Given the description of an element on the screen output the (x, y) to click on. 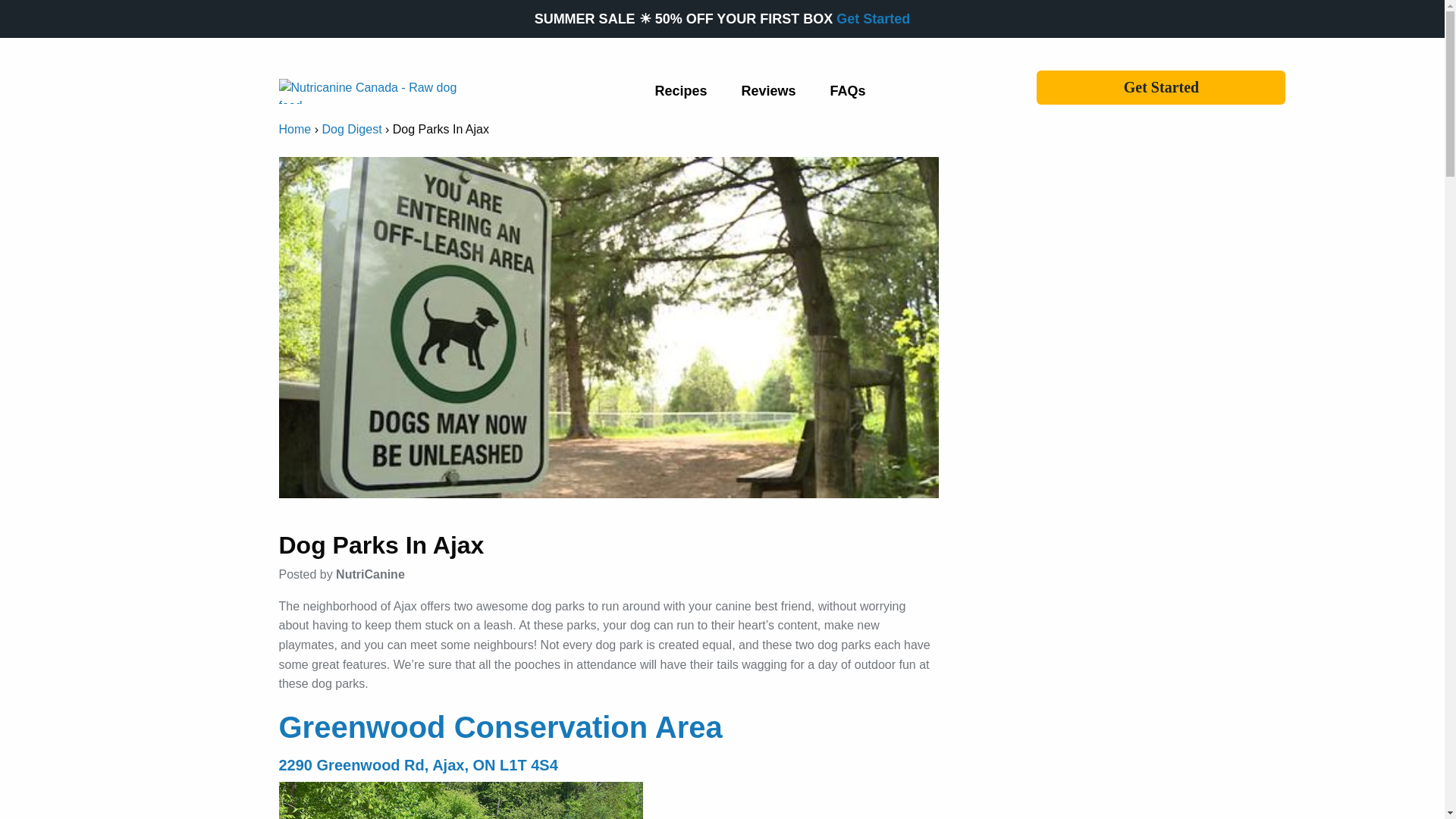
Dog Digest (351, 128)
Canada's best raw dog food (872, 17)
Greenwood Conservation Area (500, 726)
Reviews (767, 91)
2290 Greenwood Rd, Ajax, ON L1T 4S4 (418, 764)
Get Started (872, 17)
FAQs (847, 91)
Home (295, 128)
Recipes (680, 91)
Home (295, 128)
Get Started (1160, 87)
